Given the description of an element on the screen output the (x, y) to click on. 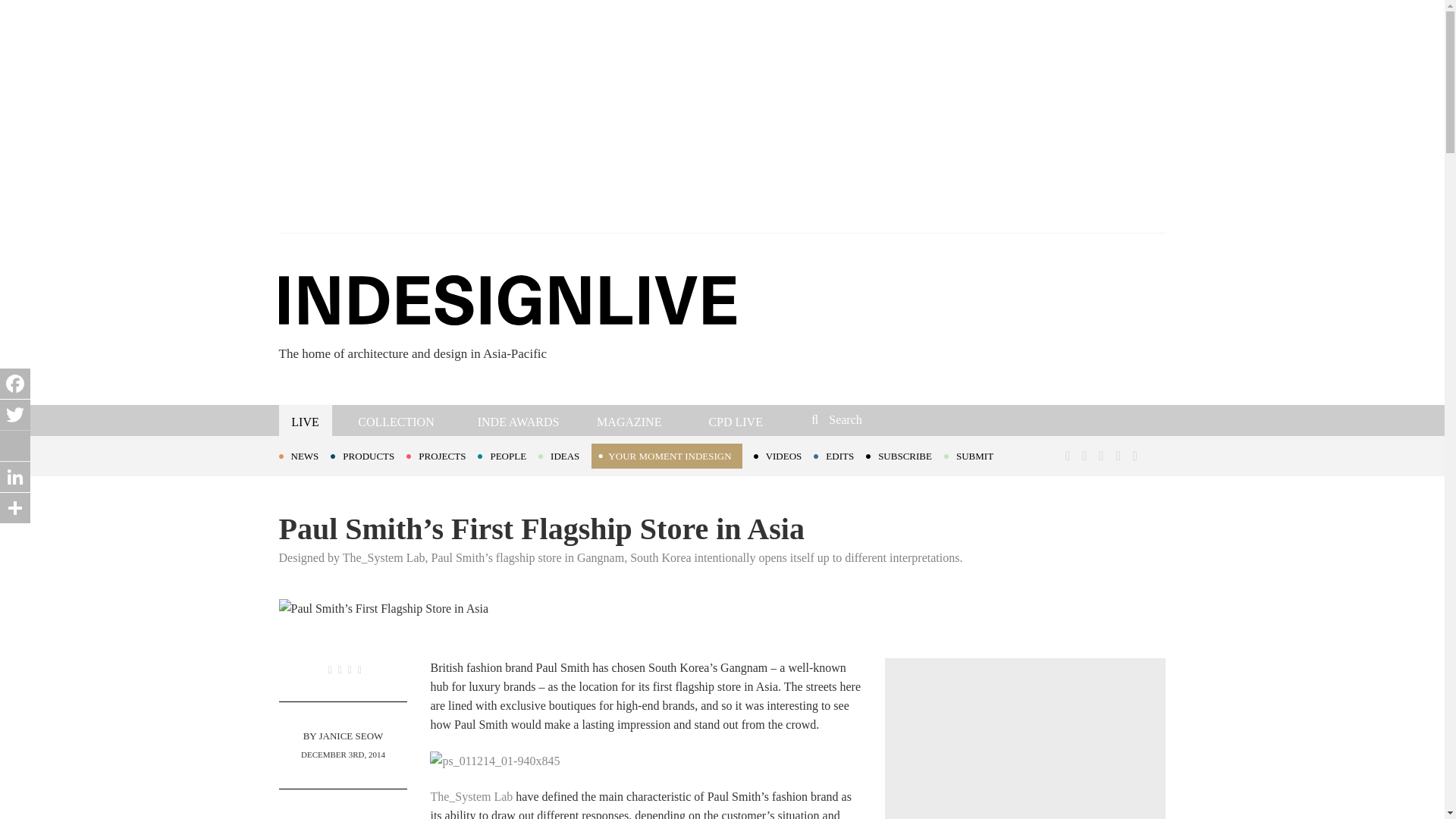
3rd party ad content (1024, 751)
PROJECTS (441, 455)
NEWS (305, 455)
PEOPLE (507, 455)
PRODUCTS (368, 455)
SUBMIT (974, 455)
Posts by Janice Seow (350, 736)
Search (913, 418)
YOUR MOMENT INDESIGN (666, 455)
SUBSCRIBE (904, 455)
EDITS (839, 455)
VIDEOS (783, 455)
IDEAS (564, 455)
